Given the description of an element on the screen output the (x, y) to click on. 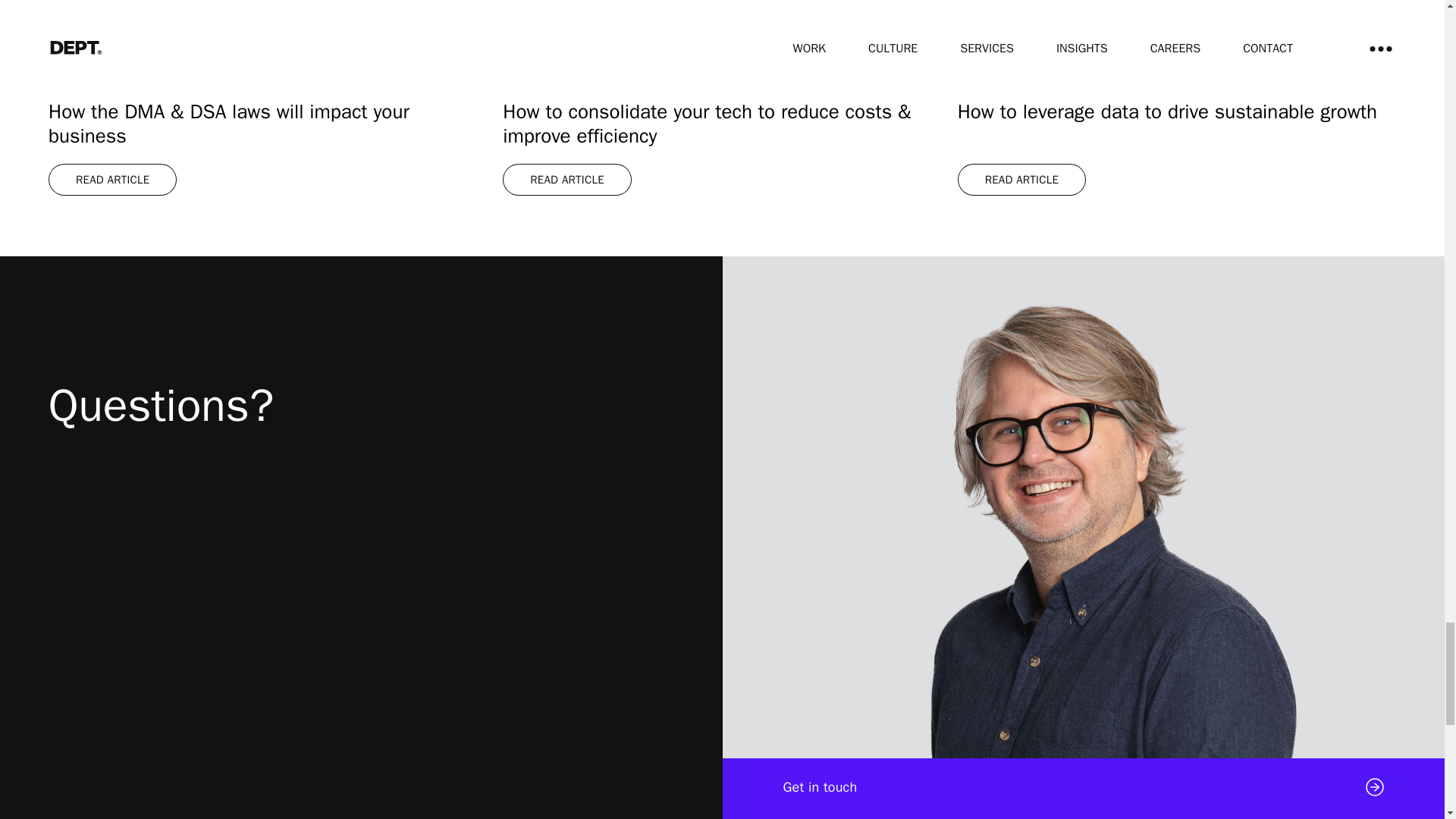
How to leverage data to drive sustainable growth (1177, 97)
